Given the description of an element on the screen output the (x, y) to click on. 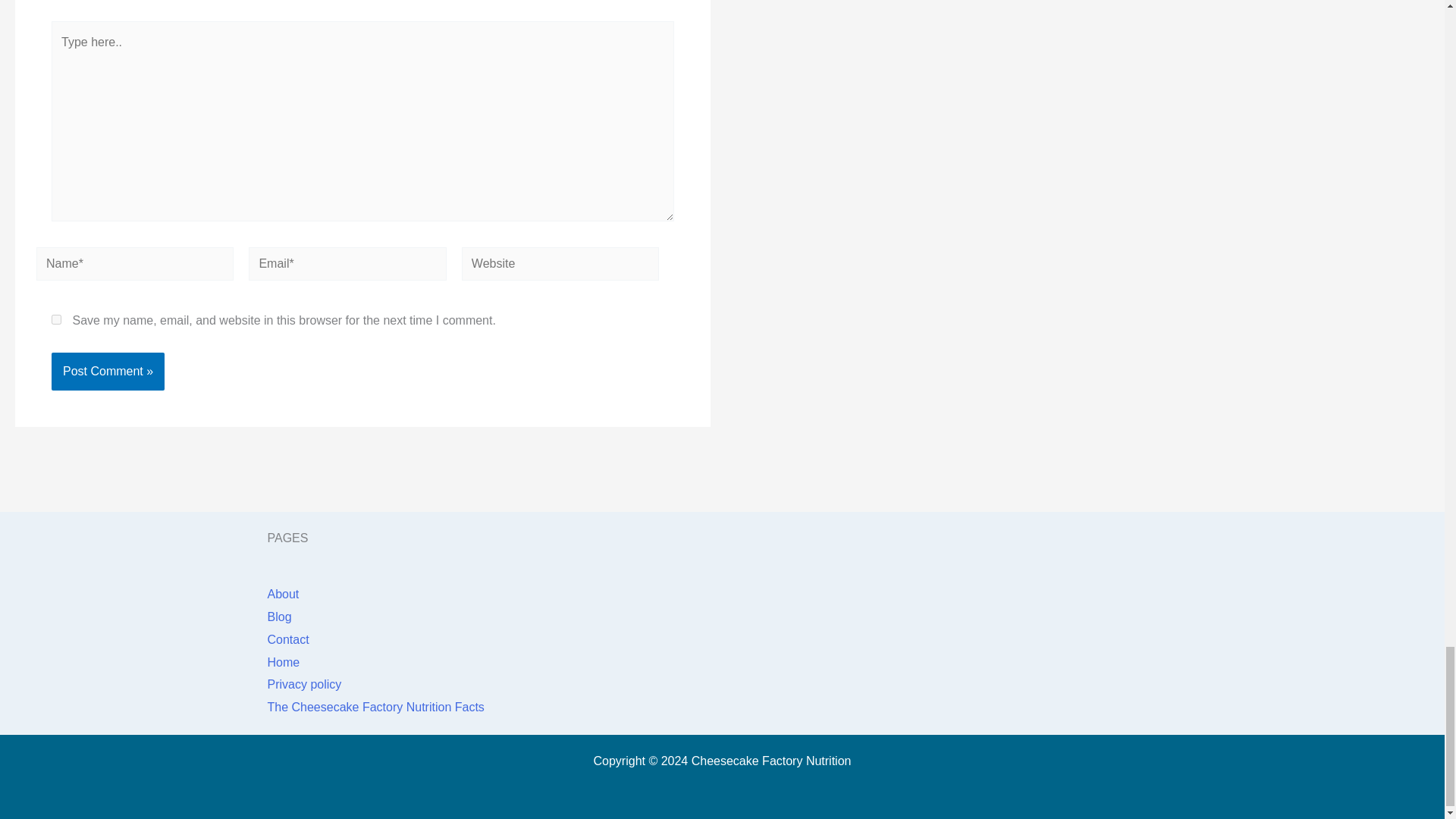
The Cheesecake Factory Nutrition Facts (374, 707)
Contact (287, 639)
Privacy policy (303, 684)
About (282, 594)
Blog (278, 616)
yes (55, 319)
Home (282, 662)
